Given the description of an element on the screen output the (x, y) to click on. 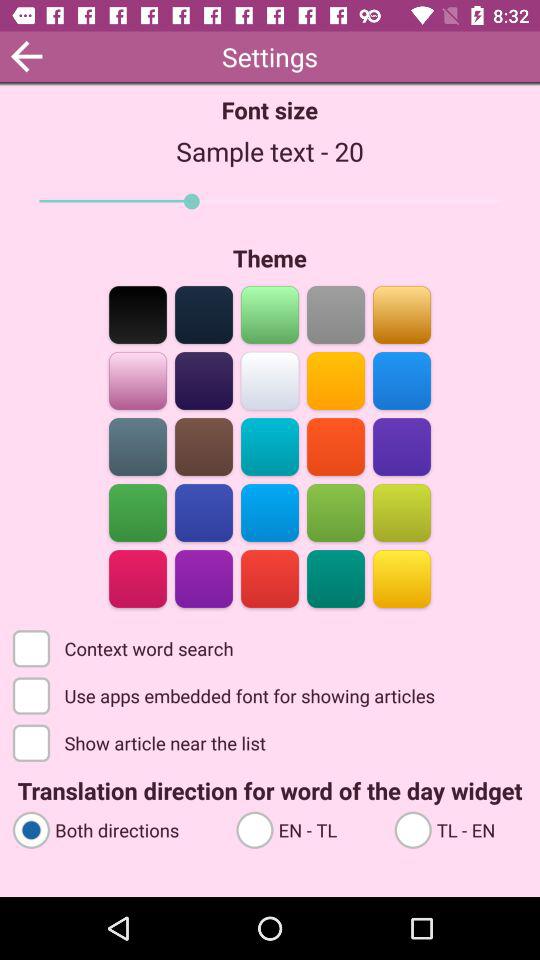
theme color selection (269, 511)
